Given the description of an element on the screen output the (x, y) to click on. 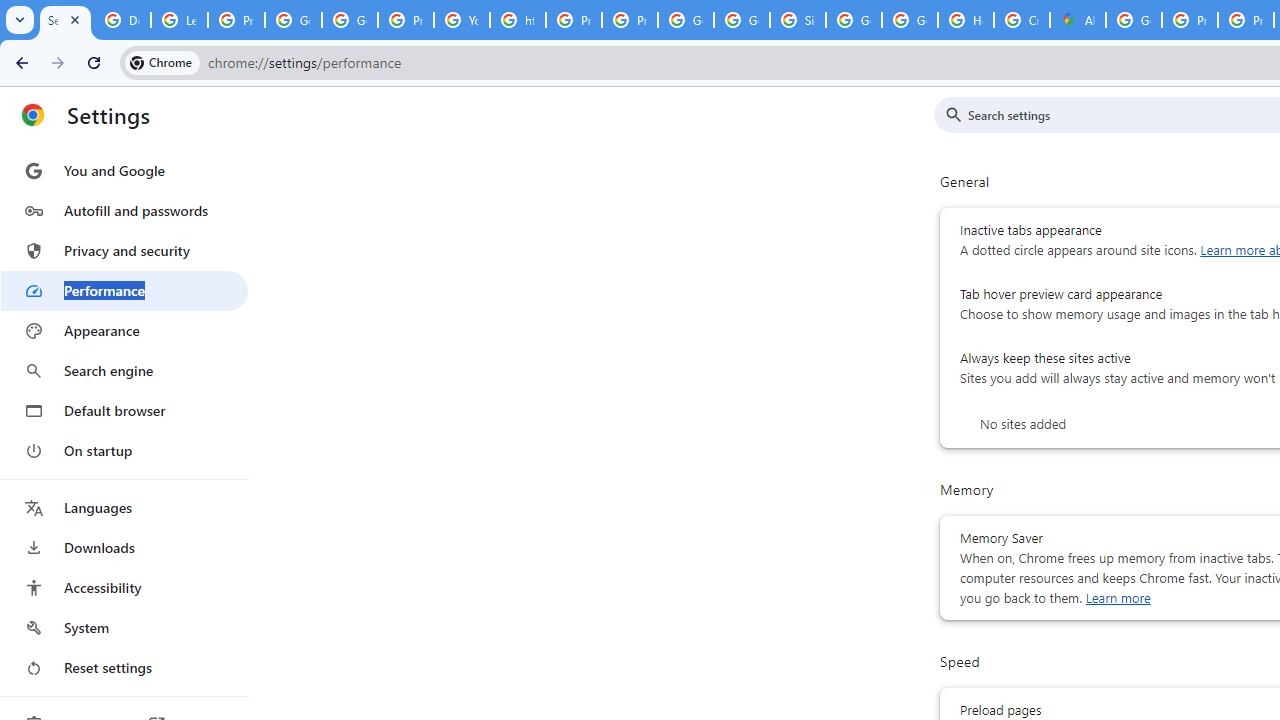
Languages (124, 507)
Settings - Performance (65, 20)
Performance (124, 290)
Create your Google Account (1021, 20)
Downloads (124, 547)
Reset settings (124, 668)
You and Google (124, 170)
